Given the description of an element on the screen output the (x, y) to click on. 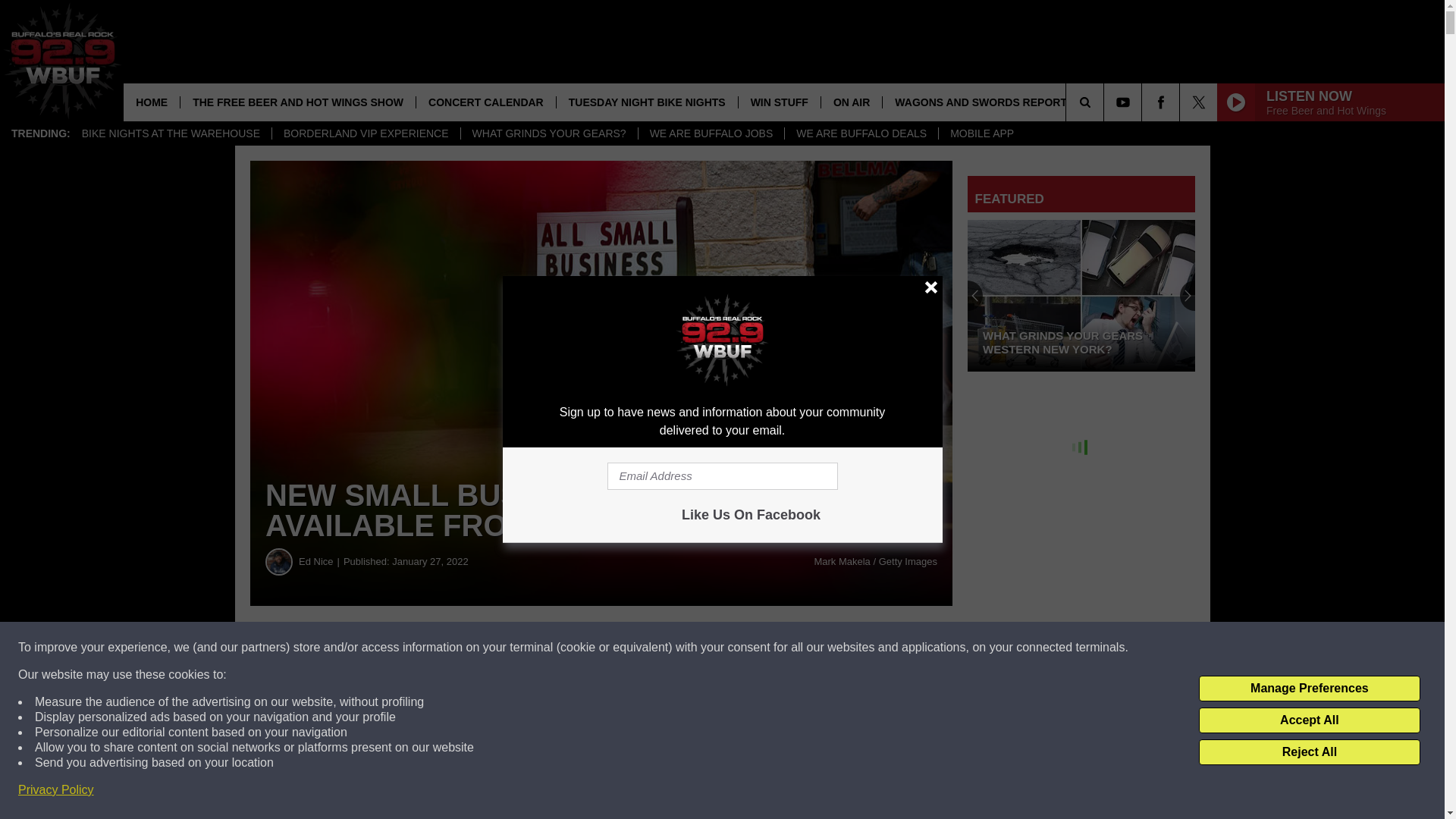
LISTEN (1109, 102)
Accept All (1309, 720)
MOBILE APP (981, 133)
WE ARE BUFFALO DEALS (860, 133)
SEARCH (1106, 102)
Privacy Policy (55, 789)
Reject All (1309, 751)
SEARCH (1106, 102)
CONCERT CALENDAR (485, 102)
WE ARE BUFFALO JOBS (710, 133)
Share on Facebook (460, 647)
WHAT GRINDS YOUR GEARS? (548, 133)
WIN STUFF (779, 102)
WAGONS AND SWORDS REPORT (980, 102)
BORDERLAND VIP EXPERIENCE (365, 133)
